Given the description of an element on the screen output the (x, y) to click on. 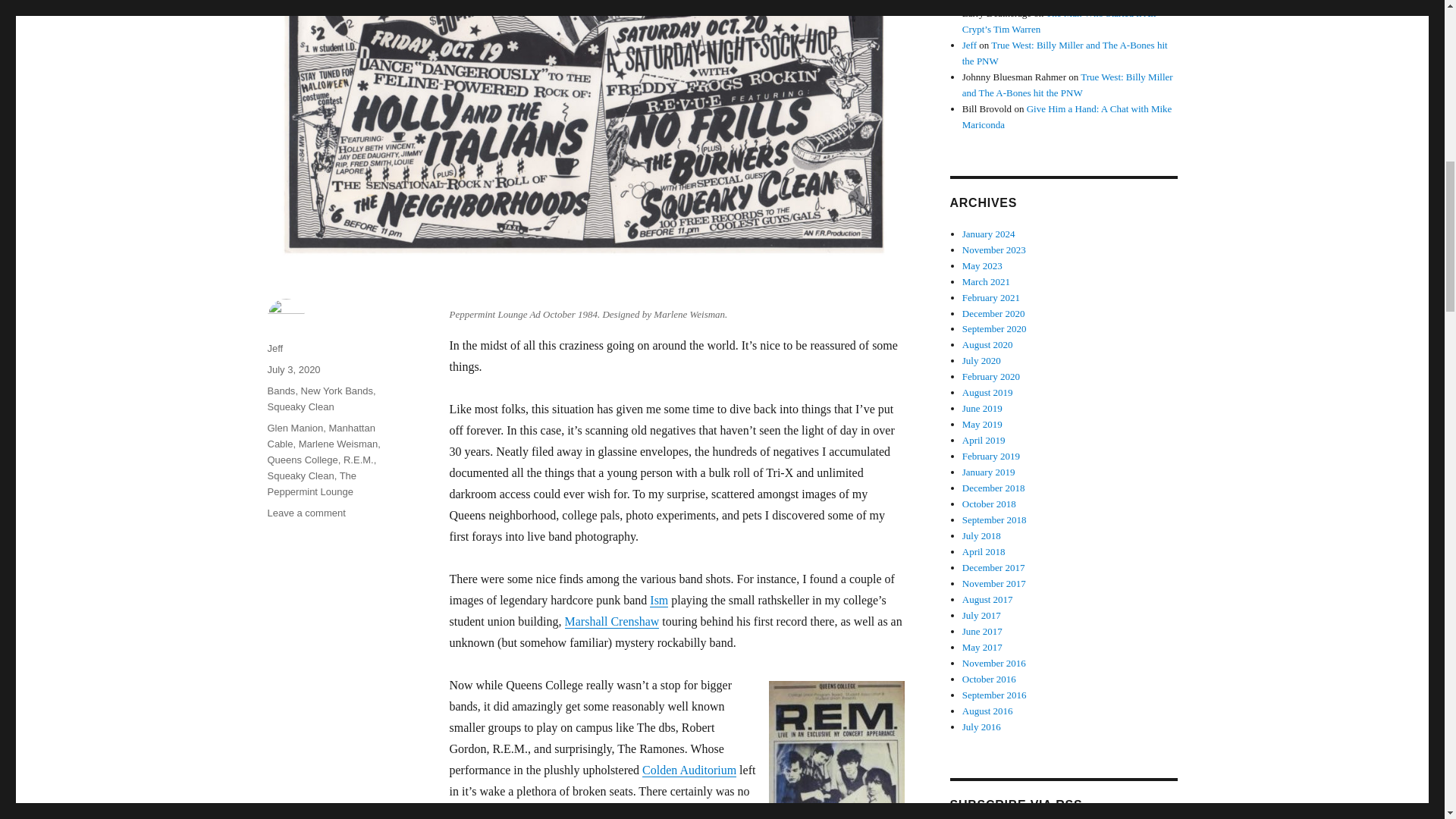
January 2024 (305, 512)
Bands (988, 233)
Give Him a Hand: A Chat with Mike Mariconda (280, 390)
Squeaky Clean (1067, 116)
The Peppermint Lounge (299, 475)
Glen Manion (311, 483)
Queens College (294, 428)
Marshall Crenshaw (301, 460)
True West: Billy Miller and The A-Bones hit the PNW (611, 621)
July 3, 2020 (1064, 52)
New York Bands (293, 369)
Ism (336, 390)
Marlene Weisman (658, 599)
Jeff (338, 443)
